Given the description of an element on the screen output the (x, y) to click on. 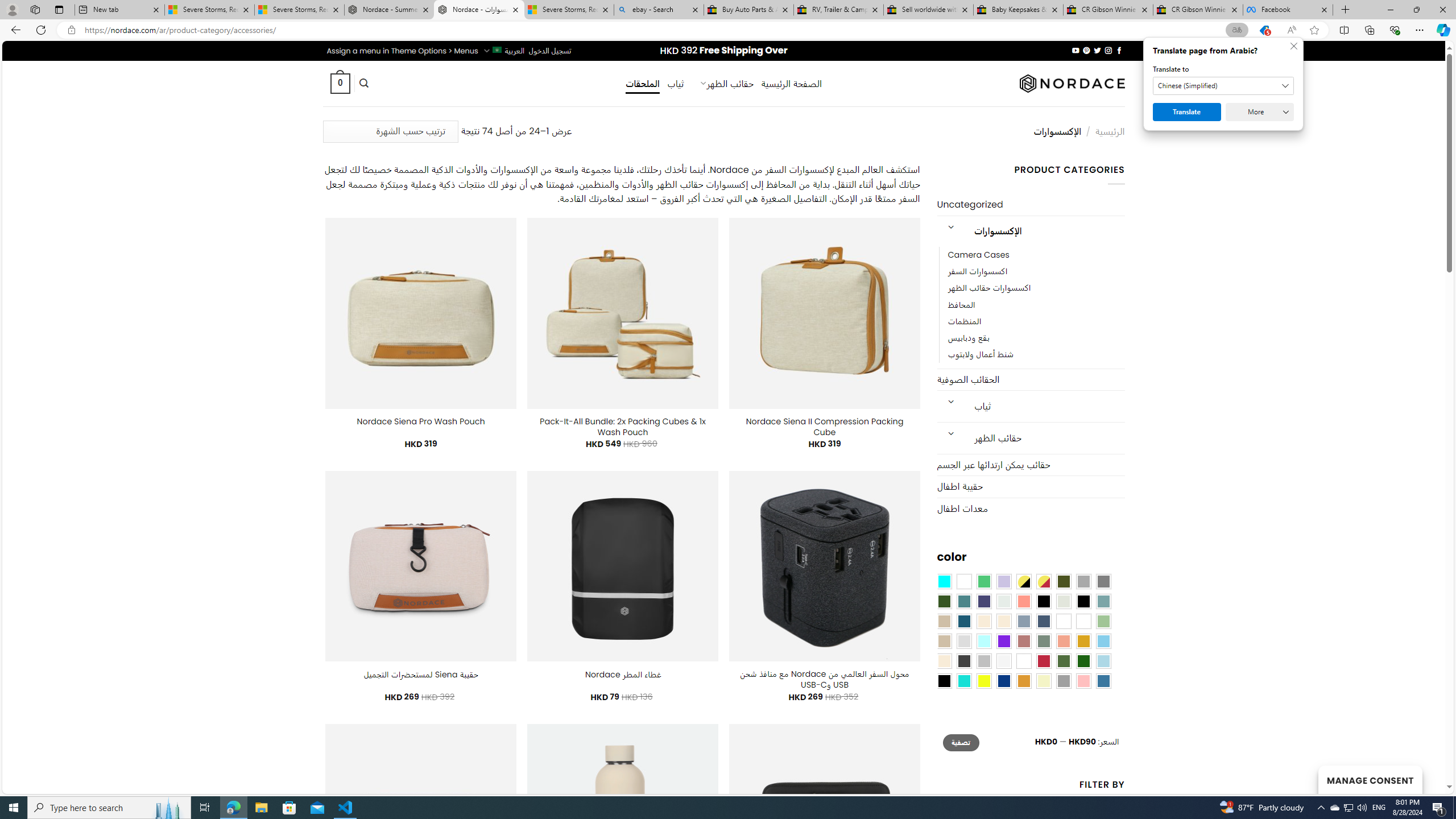
Follow on Twitter (1096, 50)
Sell worldwide with eBay (928, 9)
Cream (1003, 621)
  0   (340, 83)
Buy Auto Parts & Accessories | eBay (747, 9)
Hale Navy (1043, 621)
